Given the description of an element on the screen output the (x, y) to click on. 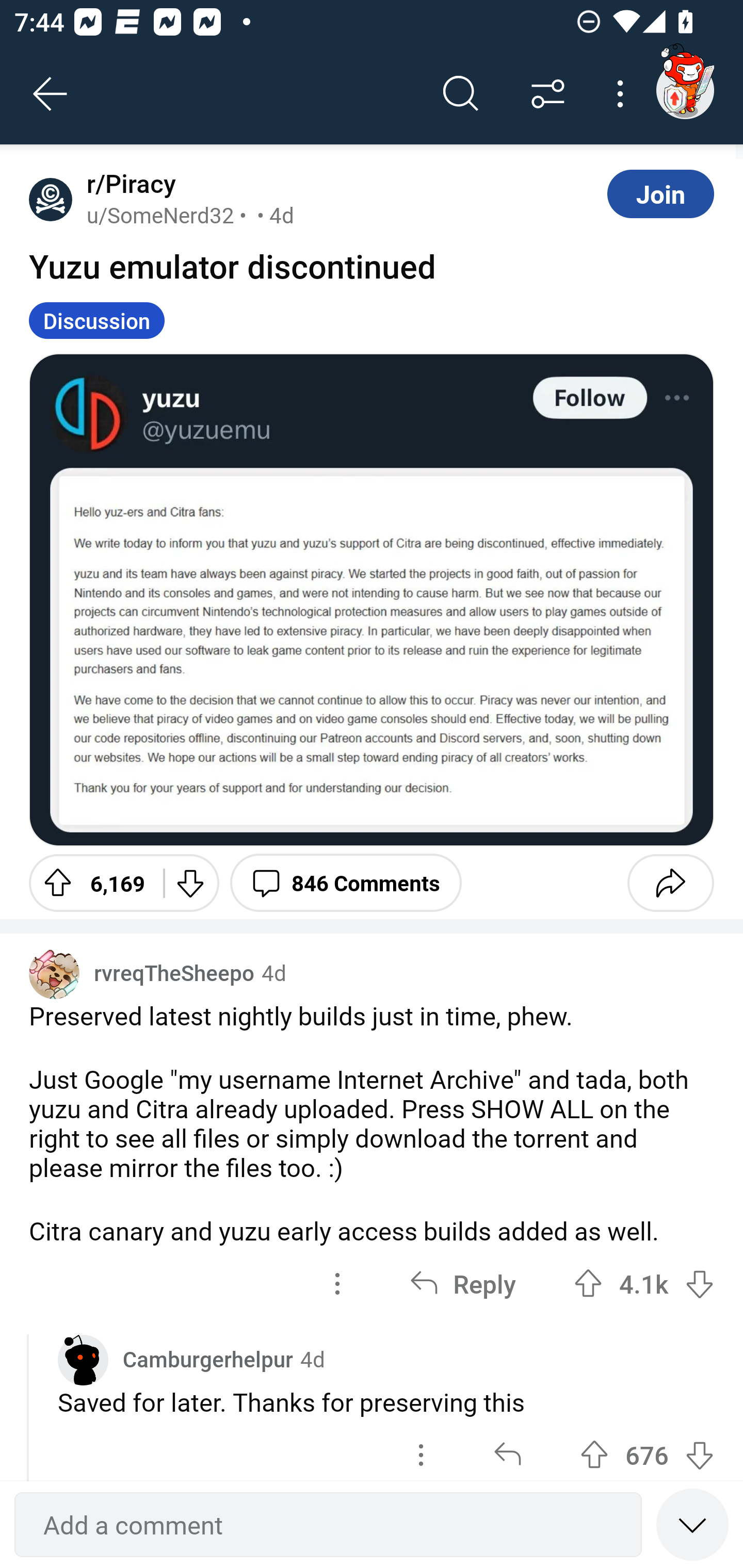
Back (50, 93)
TestAppium002 account (685, 90)
Search comments (460, 93)
Sort comments (547, 93)
More options (623, 93)
r/Piracy (127, 183)
Join (660, 193)
Avatar (50, 199)
Discussion (96, 320)
Image (371, 599)
Upvote 6,169 (88, 882)
Downvote (189, 882)
846 Comments (346, 882)
Share (670, 882)
Avatar (53, 973)
options (337, 1284)
Reply (462, 1284)
Upvote 4.1k 4106 votes Downvote (643, 1284)
Custom avatar (82, 1359)
Saved for later. Thanks for preserving this (385, 1401)
options (420, 1450)
Upvote 676 676 votes Downvote (647, 1450)
Speed read (692, 1524)
Add a comment (327, 1524)
